Given the description of an element on the screen output the (x, y) to click on. 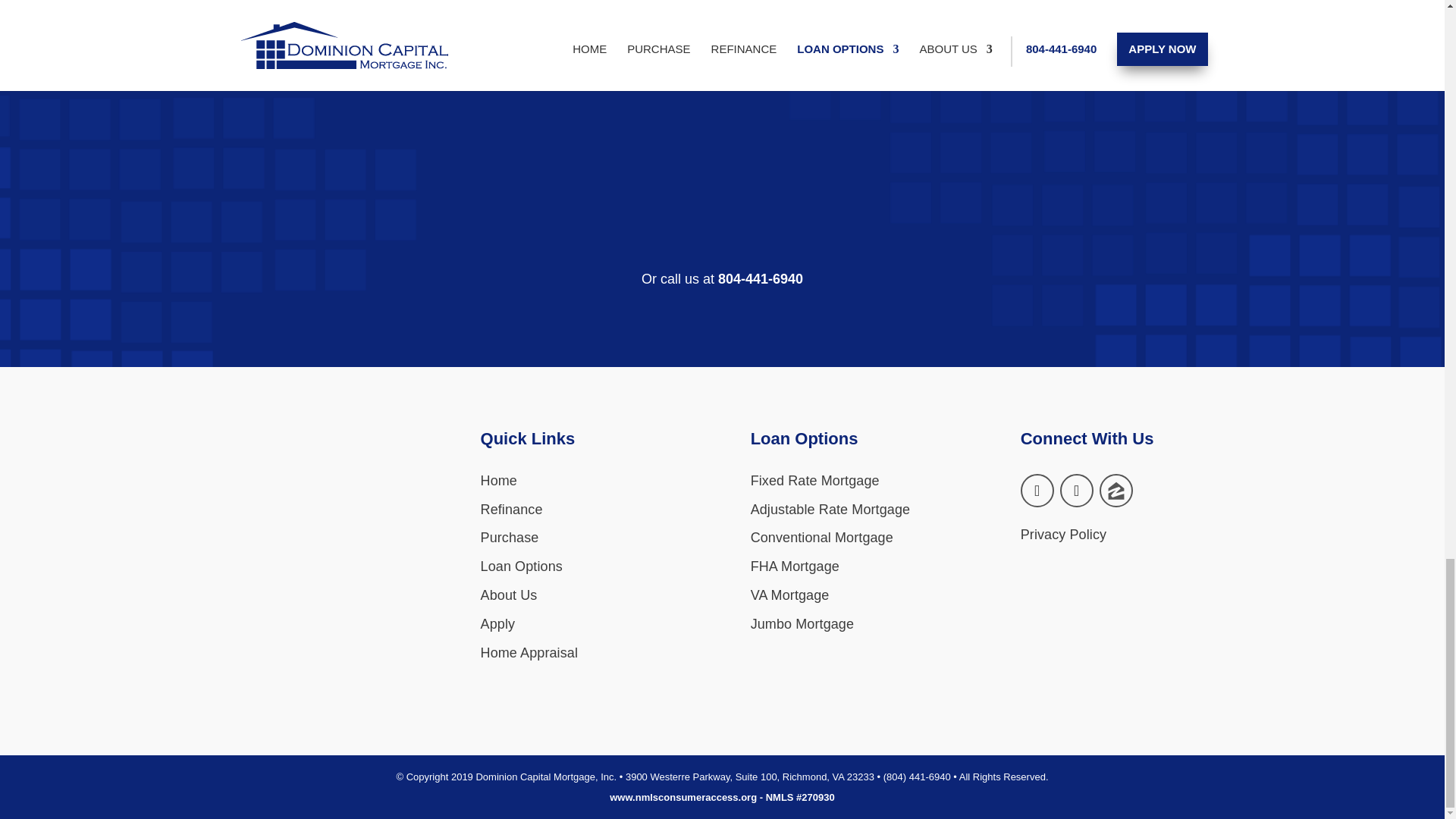
Apply (497, 623)
divider (721, 114)
About Us (508, 595)
Follow on LinkedIn (1076, 490)
house-lender (318, 636)
804-441-6940 (760, 278)
Follow on Facebook (1037, 490)
Home (498, 480)
Loan Options (521, 566)
Fixed Rate Mortgage (815, 480)
Refinance (511, 509)
Home Appraisal (529, 652)
Follow on MySpace (1115, 490)
Purchase (509, 537)
